Given the description of an element on the screen output the (x, y) to click on. 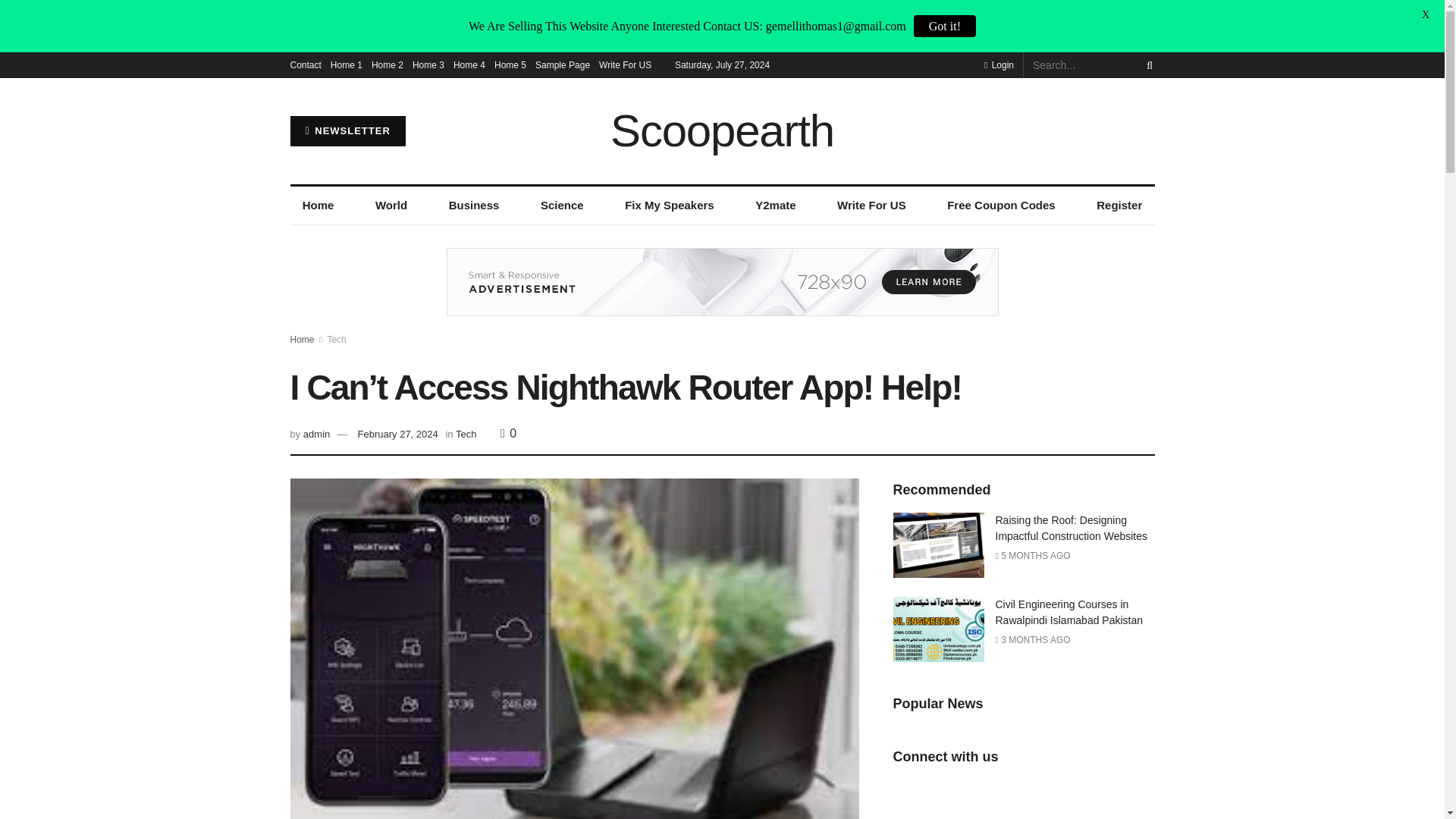
Business (473, 205)
Register (1119, 205)
Home 5 (510, 64)
Home 1 (346, 64)
Tech (336, 339)
Write For US (871, 205)
Scoopearth (722, 130)
Science (561, 205)
World (391, 205)
Home (301, 339)
Y2mate (775, 205)
Write For US (624, 64)
Home 4 (468, 64)
Home 3 (428, 64)
Contact (304, 64)
